Given the description of an element on the screen output the (x, y) to click on. 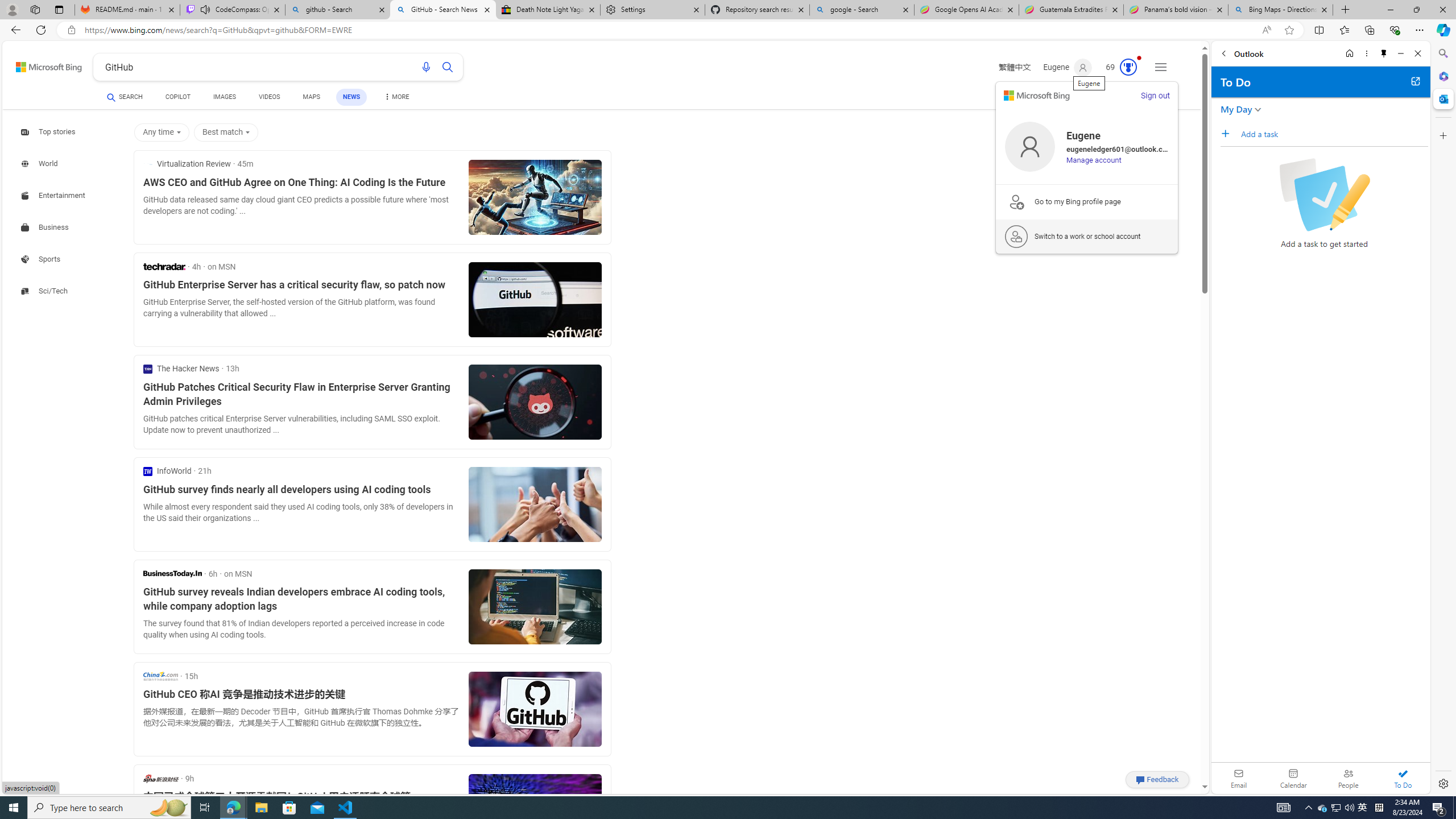
Add a task (1334, 133)
Go to my Bing profile page (1086, 201)
Search news from Virtualization Review (186, 163)
GitHub - Search News (442, 9)
Add a task (1228, 133)
